Given the description of an element on the screen output the (x, y) to click on. 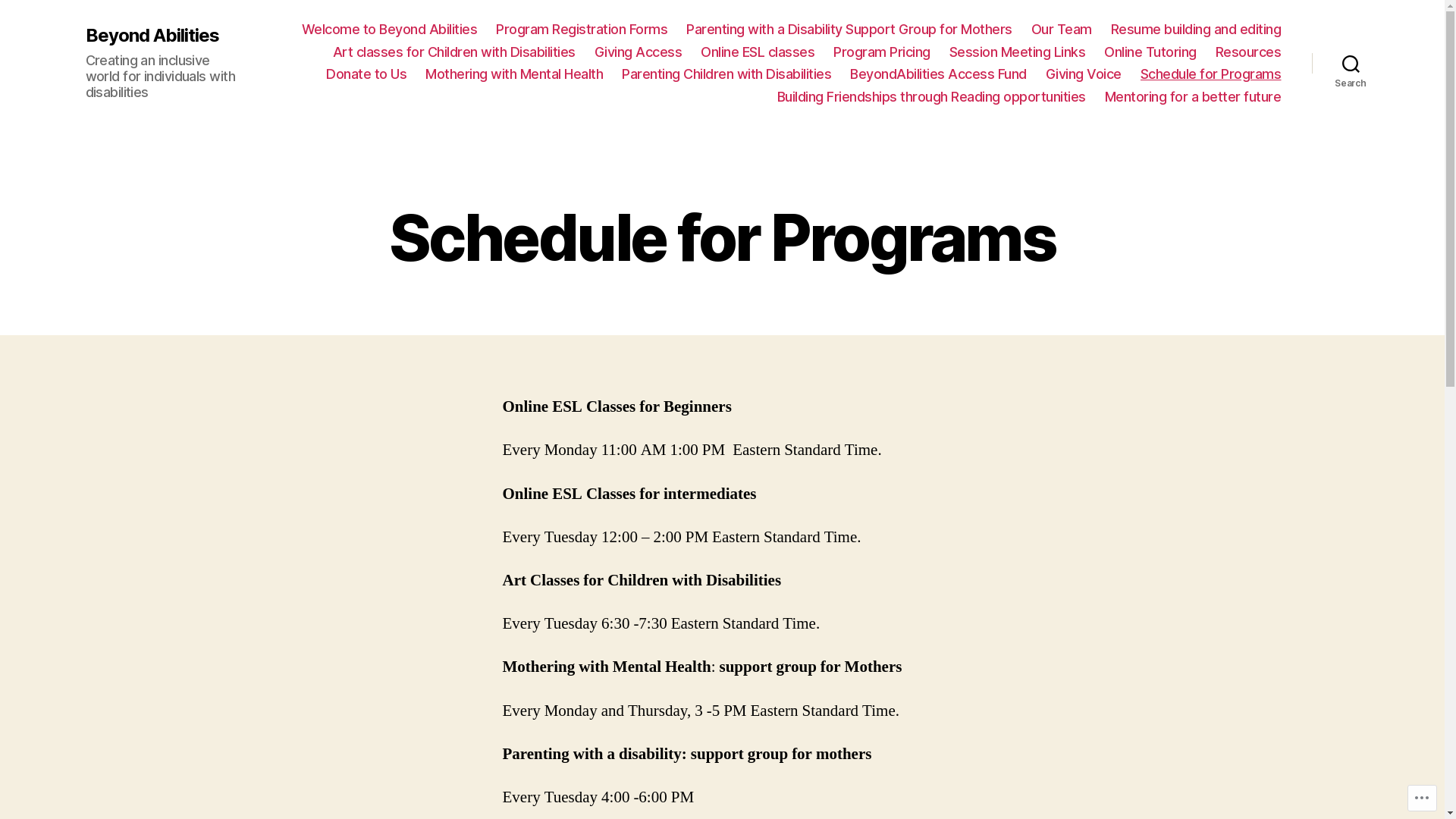
BeyondAbilities Access Fund Element type: text (938, 73)
Online ESL classes Element type: text (757, 51)
Beyond Abilities Element type: text (151, 35)
Resources Element type: text (1248, 51)
Giving Access Element type: text (638, 51)
Mentoring for a better future Element type: text (1192, 96)
Donate to Us Element type: text (366, 73)
Building Friendships through Reading opportunities Element type: text (931, 96)
Program Pricing Element type: text (881, 51)
Giving Voice Element type: text (1083, 73)
Program Registration Forms Element type: text (581, 29)
Parenting Children with Disabilities Element type: text (726, 73)
Online Tutoring Element type: text (1150, 51)
Schedule for Programs Element type: text (1210, 73)
Session Meeting Links Element type: text (1017, 51)
Parenting with a Disability Support Group for Mothers Element type: text (849, 29)
Search Element type: text (1350, 62)
Resume building and editing Element type: text (1195, 29)
Welcome to Beyond Abilities Element type: text (389, 29)
Art classes for Children with Disabilities Element type: text (453, 51)
Mothering with Mental Health Element type: text (513, 73)
Our Team Element type: text (1061, 29)
